Given the description of an element on the screen output the (x, y) to click on. 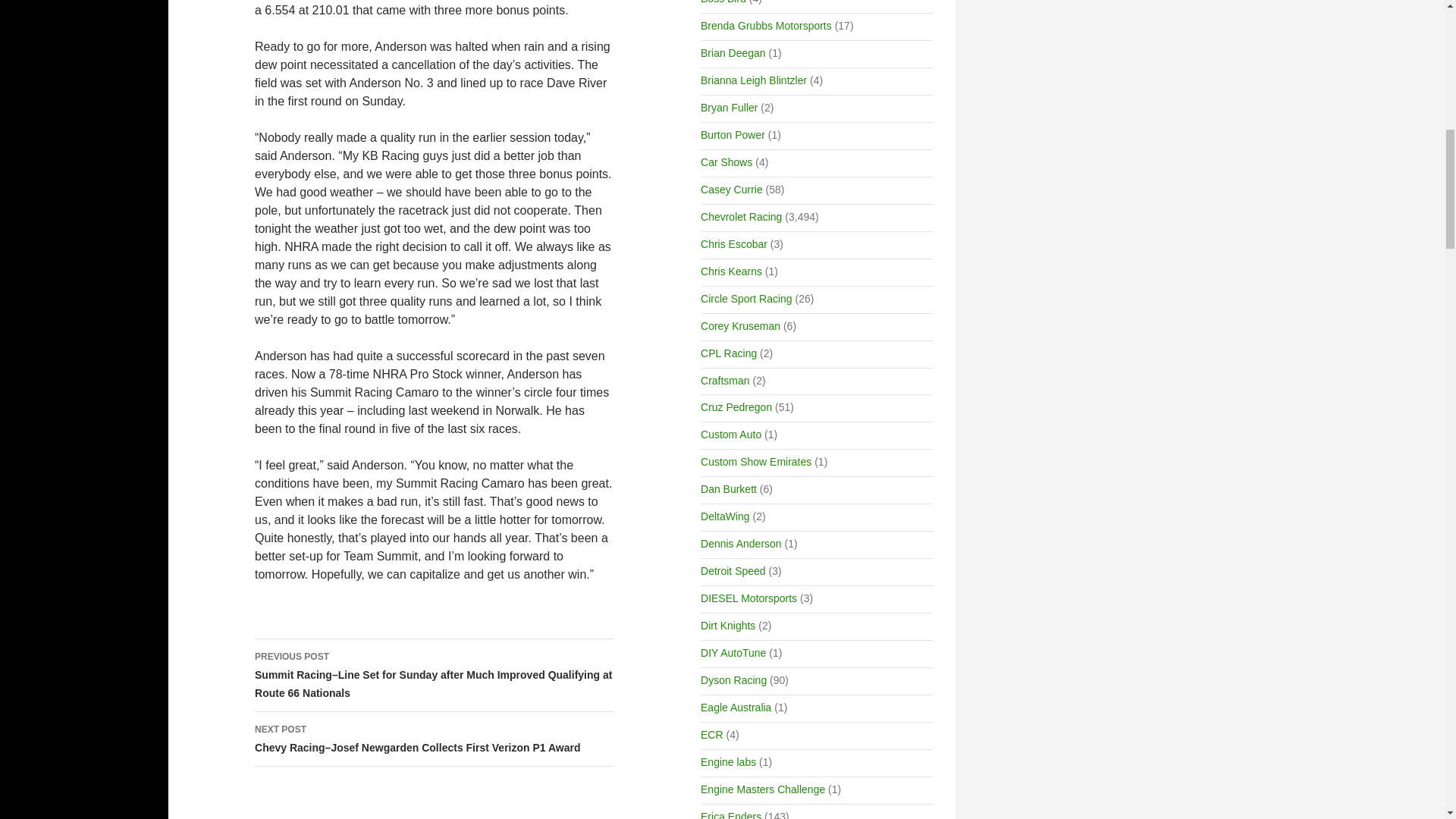
Brenda Grubbs Motorsports (765, 25)
Car Shows (726, 162)
Brian Deegan (732, 52)
Casey Currie (731, 189)
Bryan Fuller (728, 107)
Brianna Leigh Blintzler (753, 80)
Burton Power (732, 134)
Chris Escobar (733, 244)
Chevrolet Racing (740, 216)
Boss Bird (722, 2)
